Given the description of an element on the screen output the (x, y) to click on. 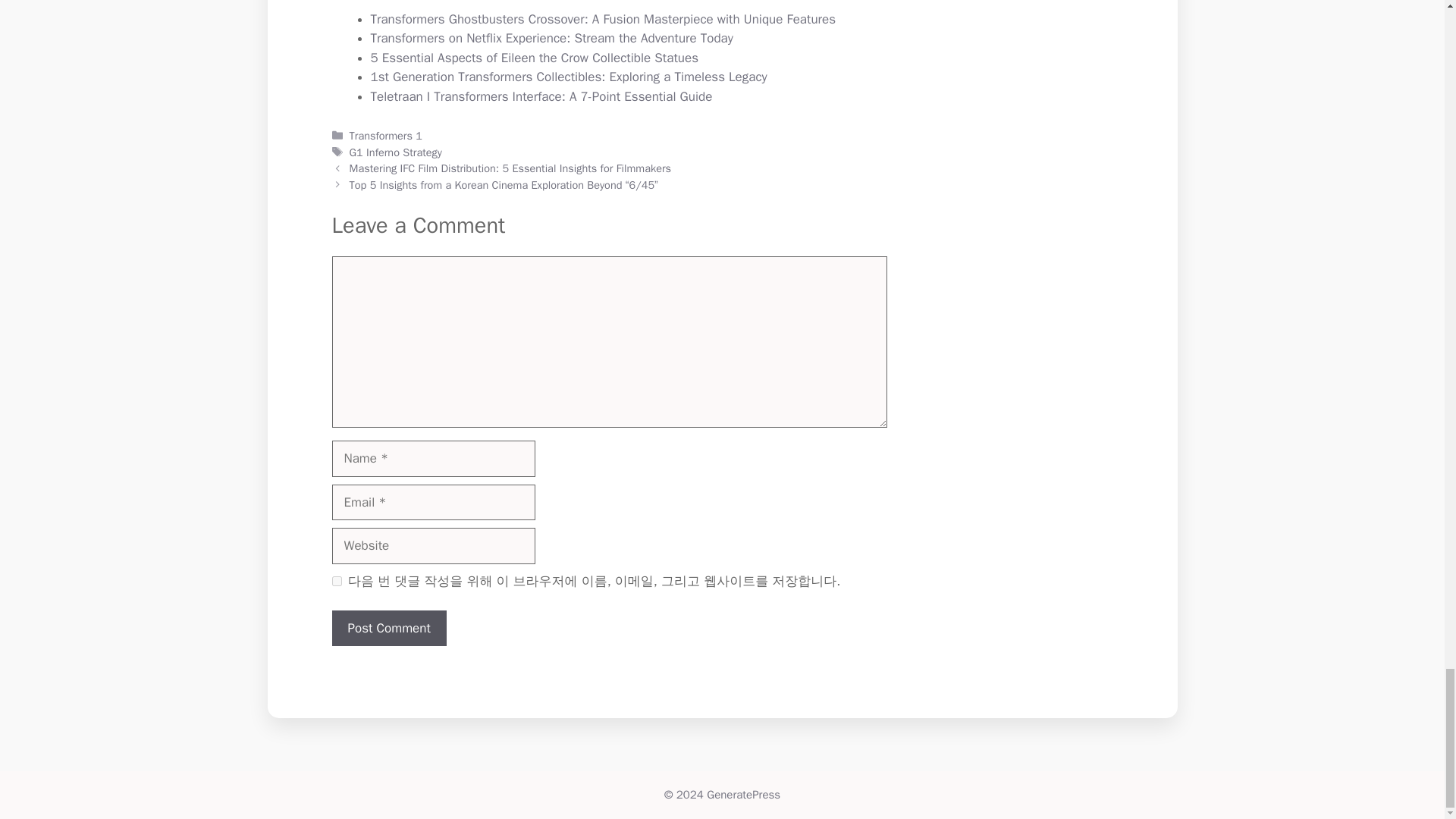
Post Comment (388, 628)
Transformers 1 (385, 135)
yes (336, 581)
Post Comment (388, 628)
5 Essential Aspects of Eileen the Crow Collectible Statues (533, 57)
